Given the description of an element on the screen output the (x, y) to click on. 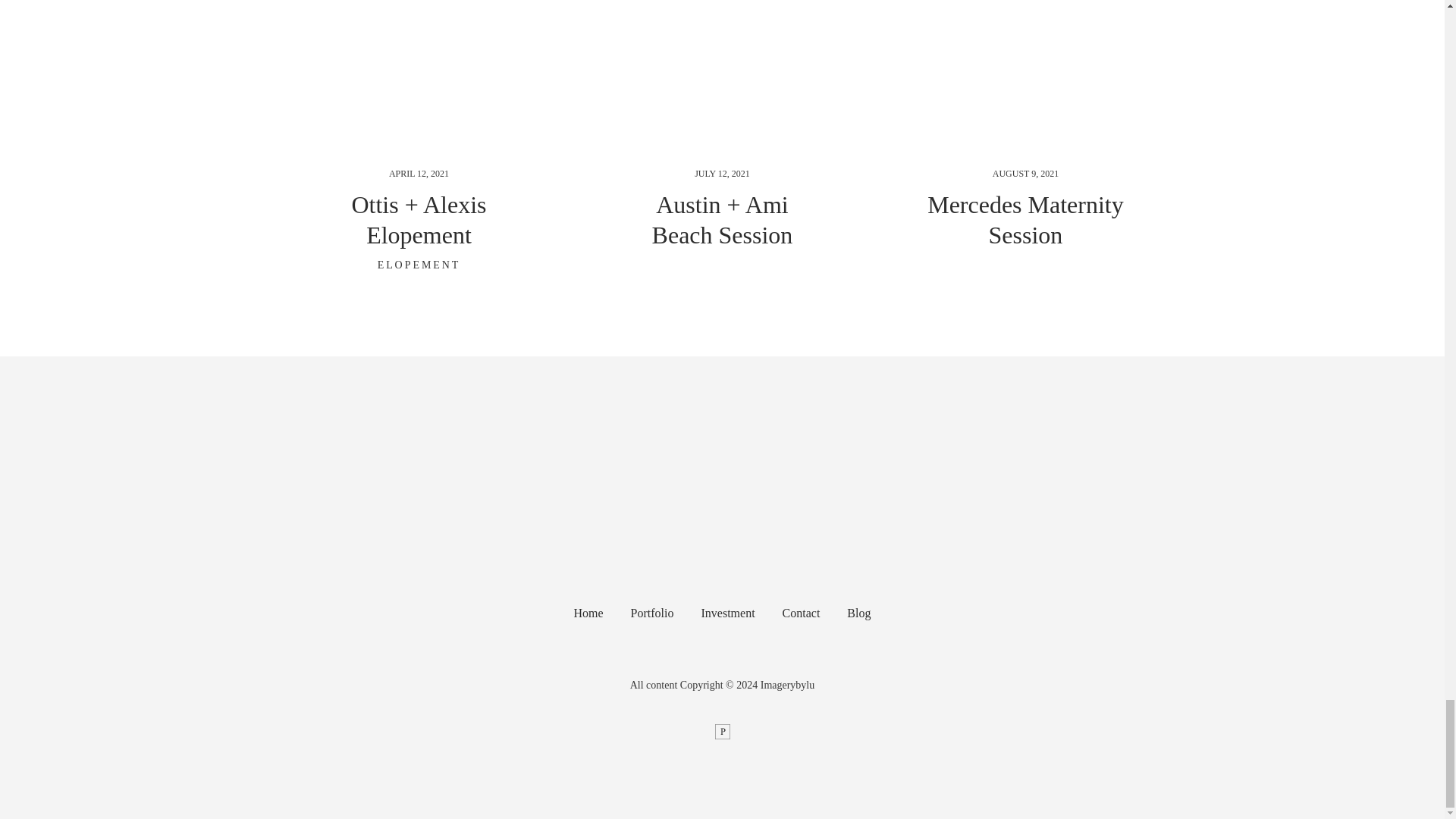
Home (587, 613)
Portfolio (651, 613)
ELOPEMENT (419, 265)
